Given the description of an element on the screen output the (x, y) to click on. 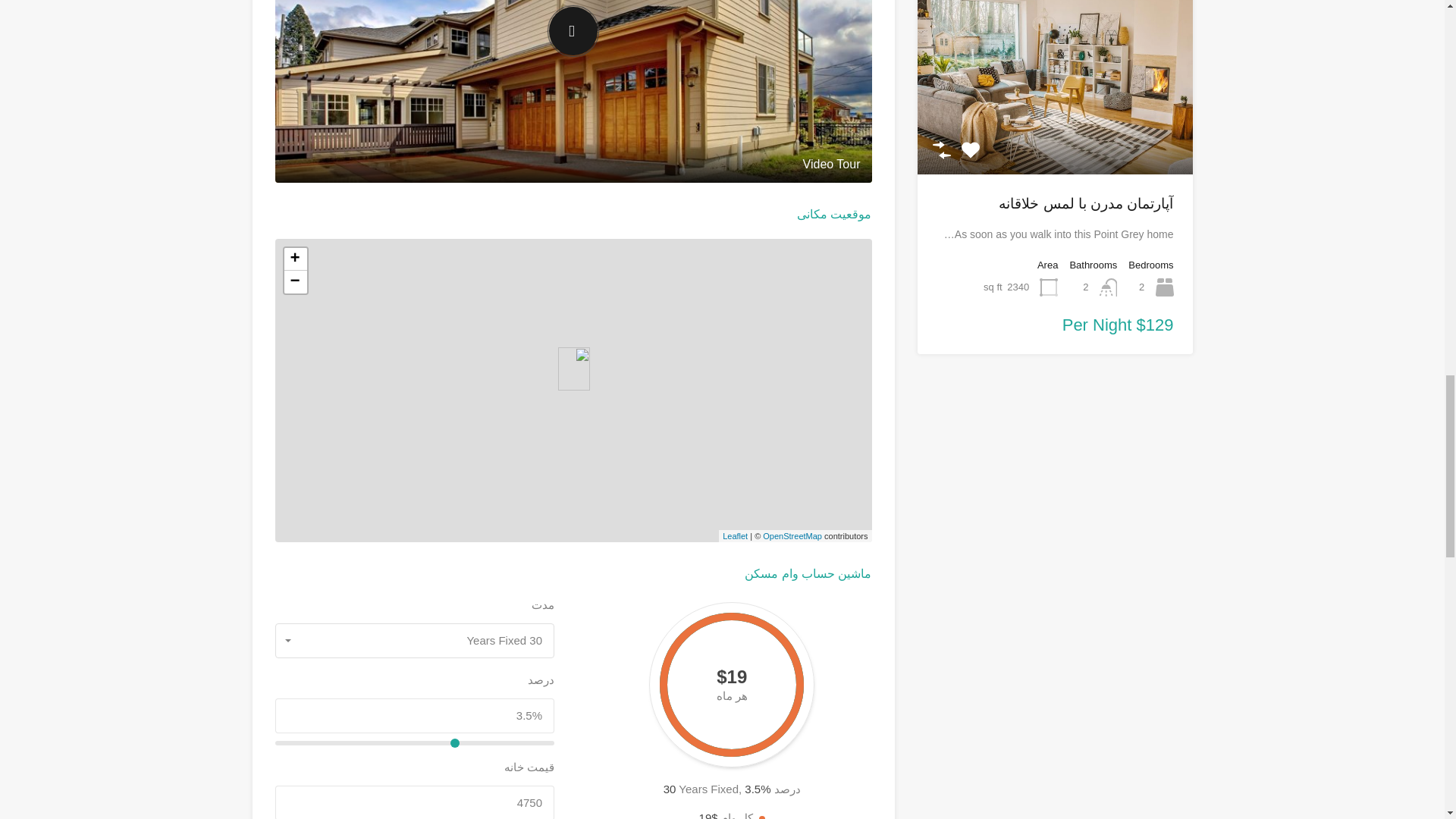
4750 (414, 802)
3.5 (414, 743)
